Given the description of an element on the screen output the (x, y) to click on. 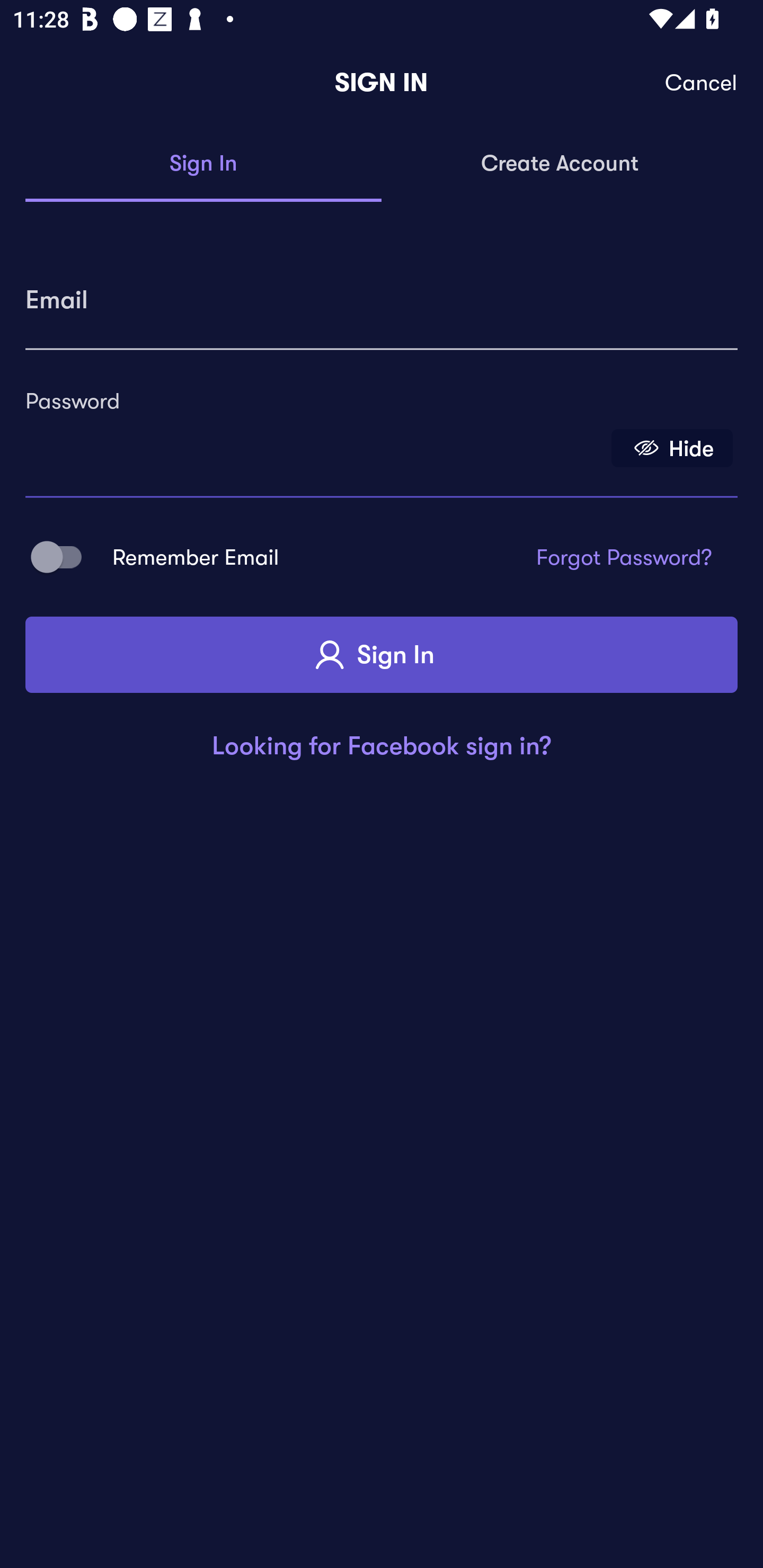
Cancel (701, 82)
Sign In (203, 164)
Create Account (559, 164)
Email (381, 293)
Password (314, 441)
Show Password Hide (671, 447)
Remember Email (62, 557)
Sign In (381, 654)
